Given the description of an element on the screen output the (x, y) to click on. 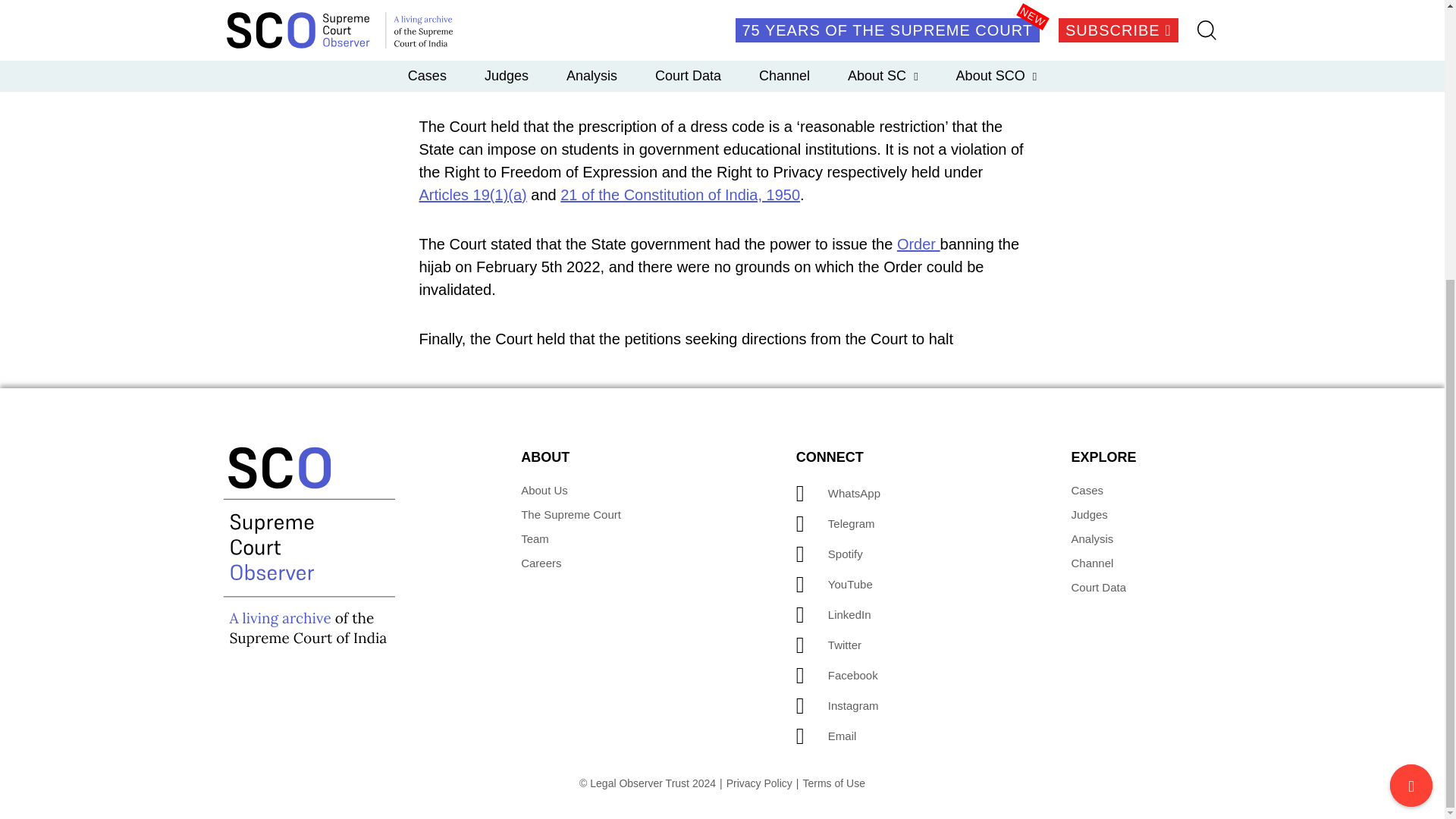
21 of the Constitution of India, 1950 (679, 194)
Essential Religious Practice (801, 54)
Order (918, 243)
